Given the description of an element on the screen output the (x, y) to click on. 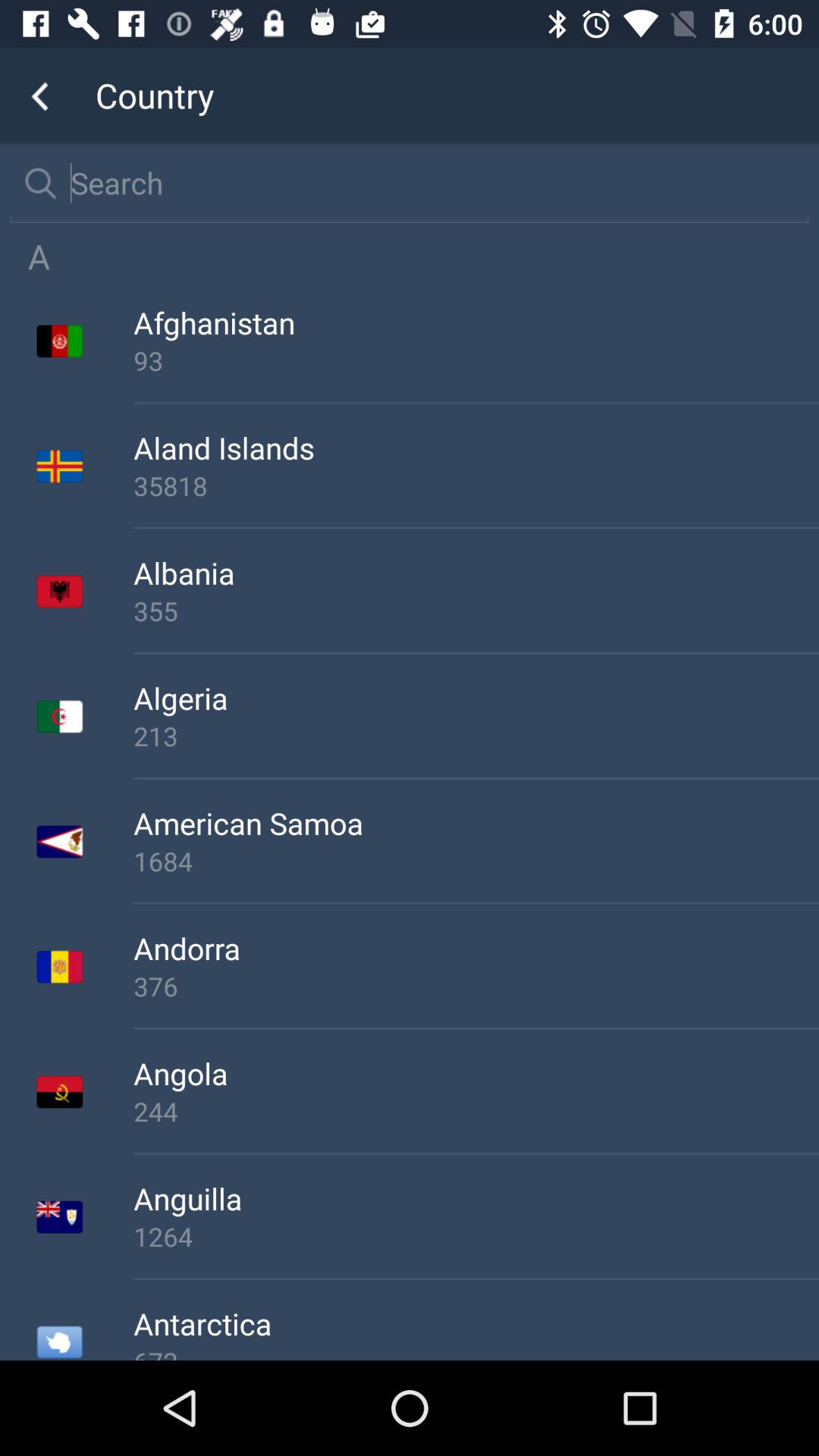
launch the item above the 672 icon (476, 1323)
